Given the description of an element on the screen output the (x, y) to click on. 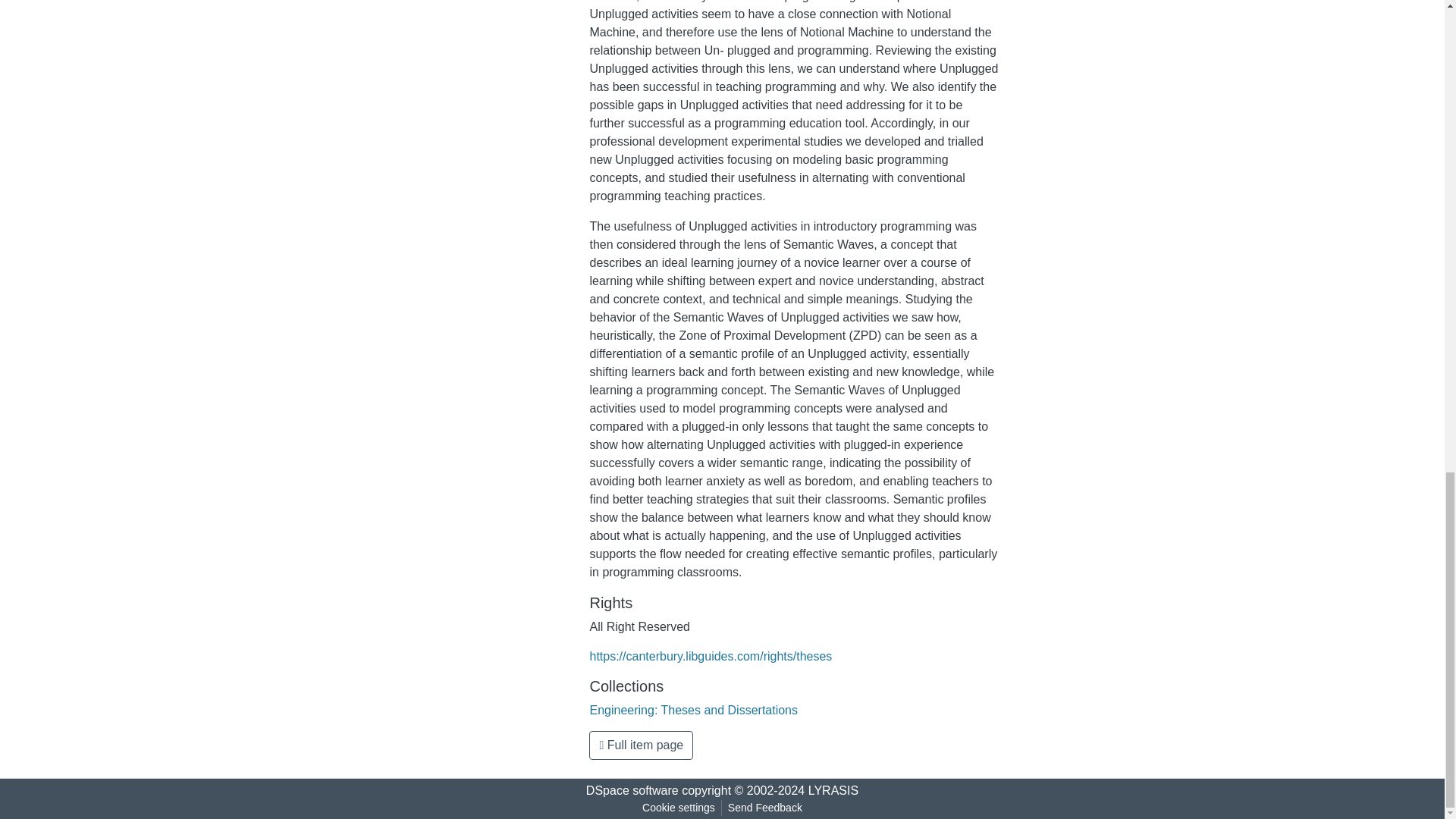
DSpace software (632, 789)
Engineering: Theses and Dissertations (693, 709)
Full item page (641, 745)
Send Feedback (765, 807)
LYRASIS (833, 789)
Cookie settings (678, 807)
